Given the description of an element on the screen output the (x, y) to click on. 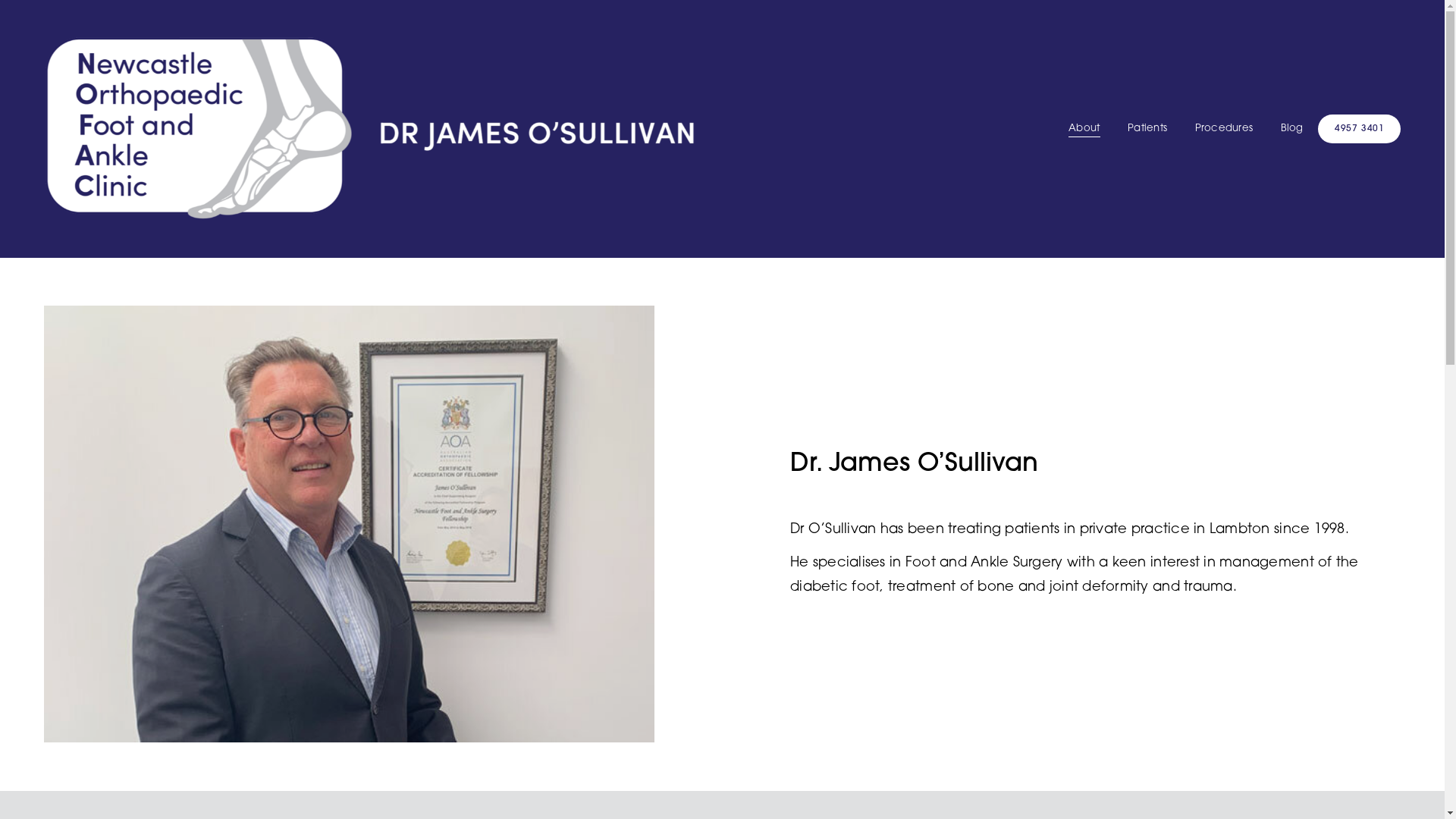
Procedures Element type: text (1224, 128)
Blog Element type: text (1291, 128)
Patients Element type: text (1147, 128)
About Element type: text (1083, 128)
4957 3401 Element type: text (1358, 128)
